Given the description of an element on the screen output the (x, y) to click on. 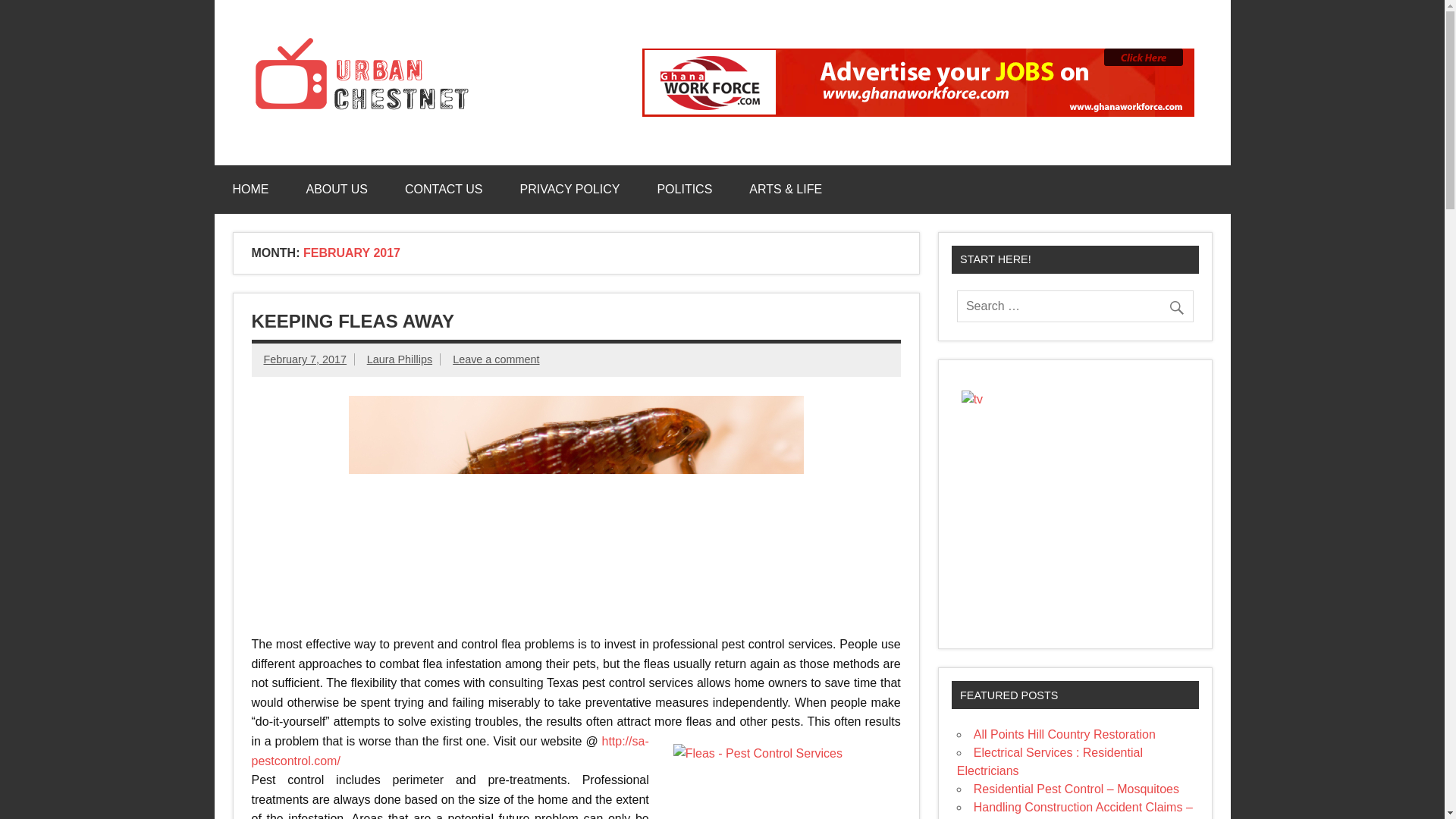
CONTACT US (443, 189)
1:08 am (305, 358)
February 7, 2017 (305, 358)
View all posts by Laura Phillips (399, 358)
KEEPING FLEAS AWAY (352, 321)
ABOUT US (337, 189)
PRIVACY POLICY (570, 189)
Laura Phillips (399, 358)
All Points Hill Country Restoration (1065, 734)
POLITICS (684, 189)
Urban Chestnut (603, 51)
Leave a comment (495, 358)
HOME (250, 189)
Electrical Services : Residential Electricians (1049, 761)
